Given the description of an element on the screen output the (x, y) to click on. 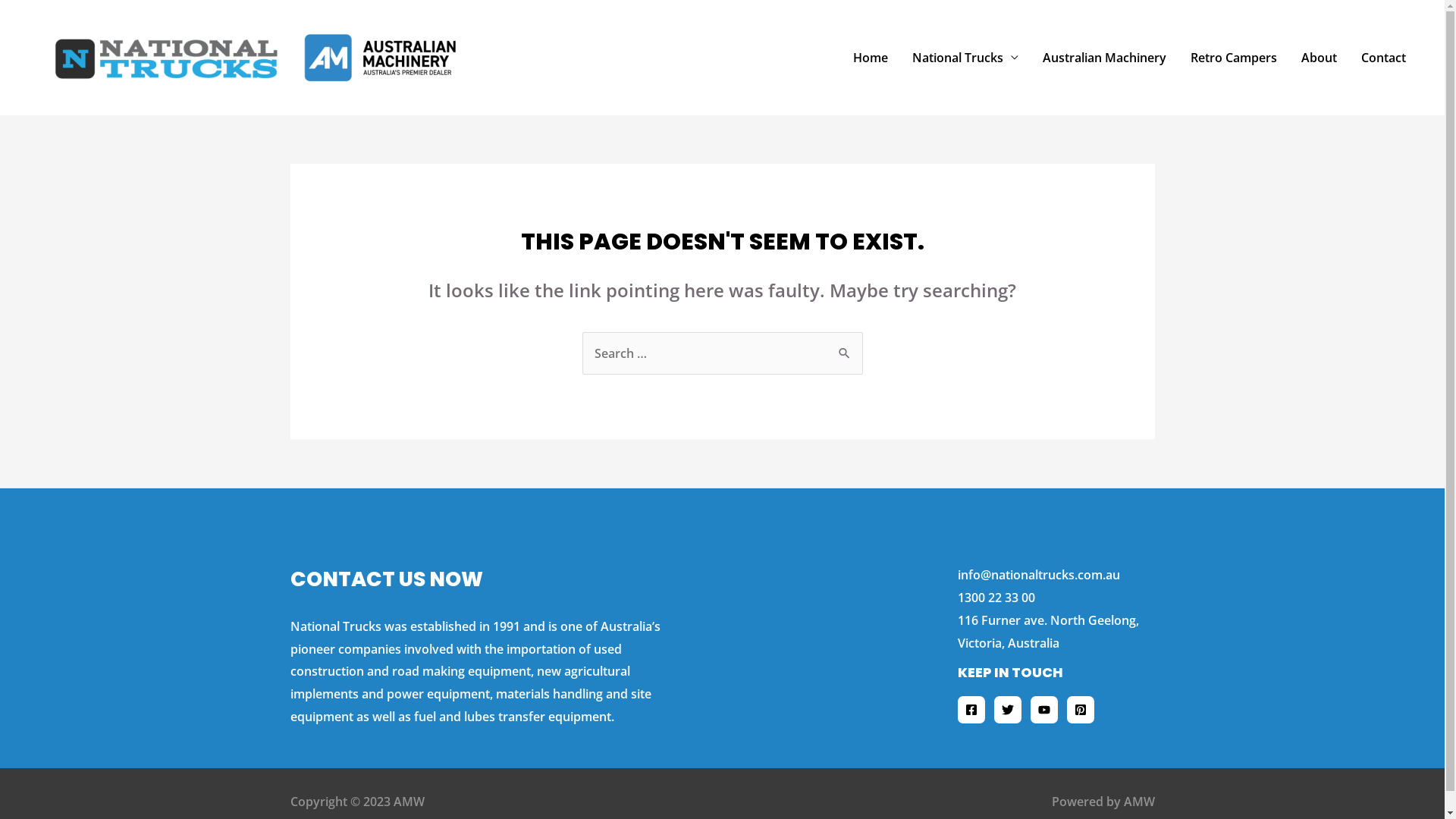
Australian Machinery Element type: text (1104, 57)
Retro Campers Element type: text (1233, 57)
1300 22 33 00 Element type: text (995, 597)
116 Furner ave. North Geelong, Victoria, Australia Element type: text (1047, 631)
Contact Element type: text (1383, 57)
Home Element type: text (870, 57)
Search Element type: text (845, 347)
info@nationaltrucks.com.au Element type: text (1038, 574)
About Element type: text (1319, 57)
National Trucks Element type: text (965, 57)
